Given the description of an element on the screen output the (x, y) to click on. 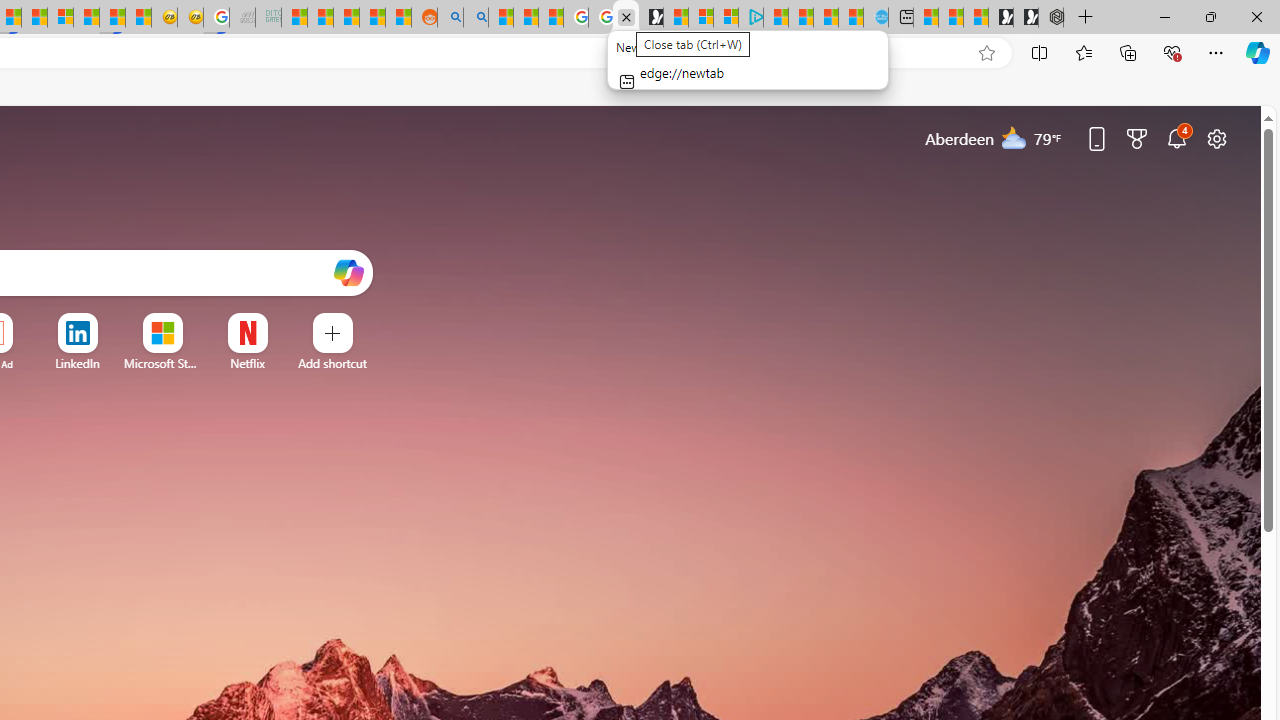
MSNBC - MSN (294, 17)
Mostly cloudy (1014, 137)
Home | Sky Blue Bikes - Sky Blue Bikes (876, 17)
Navy Quest (242, 17)
Student Loan Update: Forgiveness Program Ends This Month (372, 17)
MSN (112, 17)
Open Copilot (347, 273)
